Given the description of an element on the screen output the (x, y) to click on. 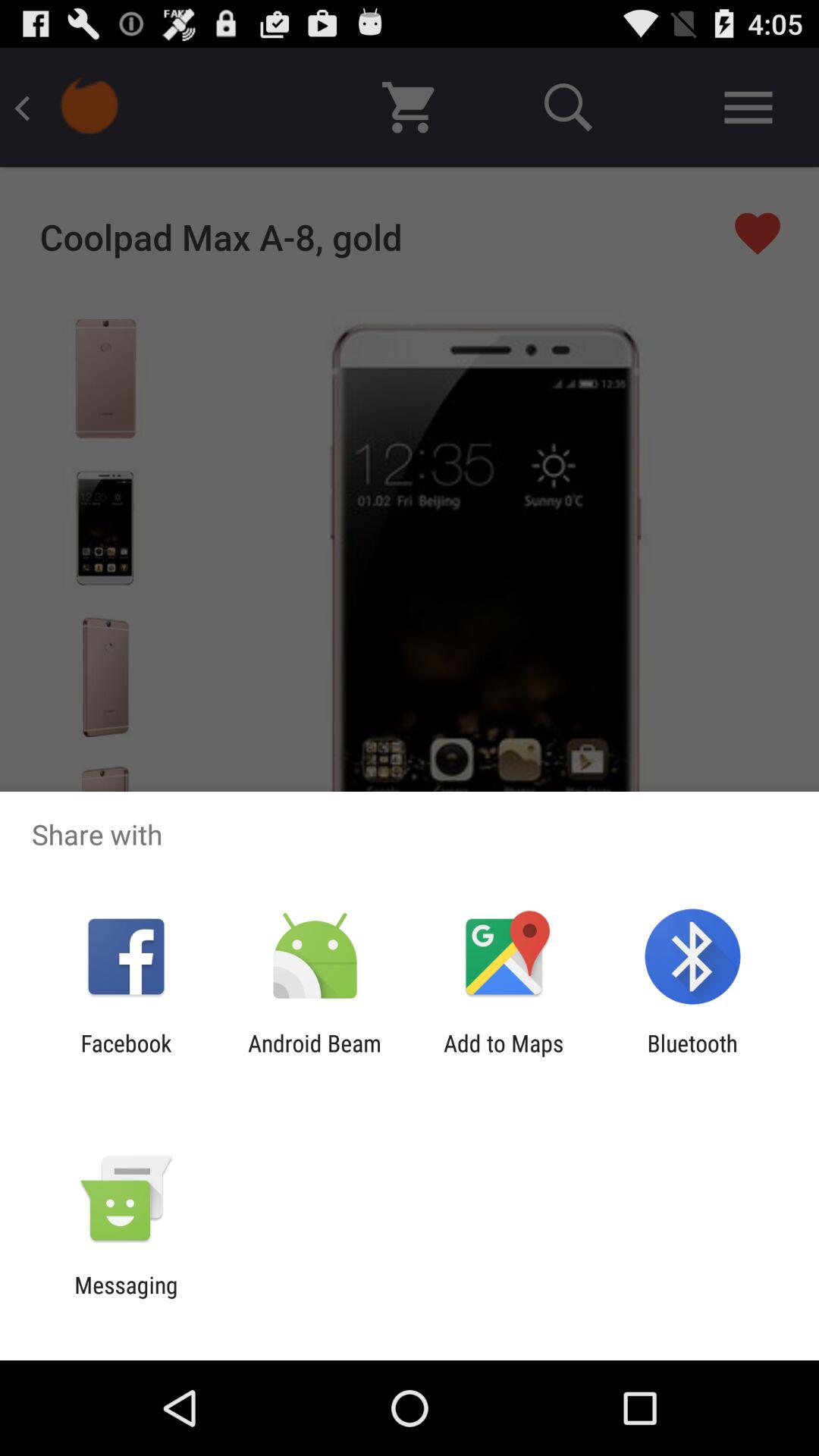
turn on the app next to the android beam app (503, 1056)
